Given the description of an element on the screen output the (x, y) to click on. 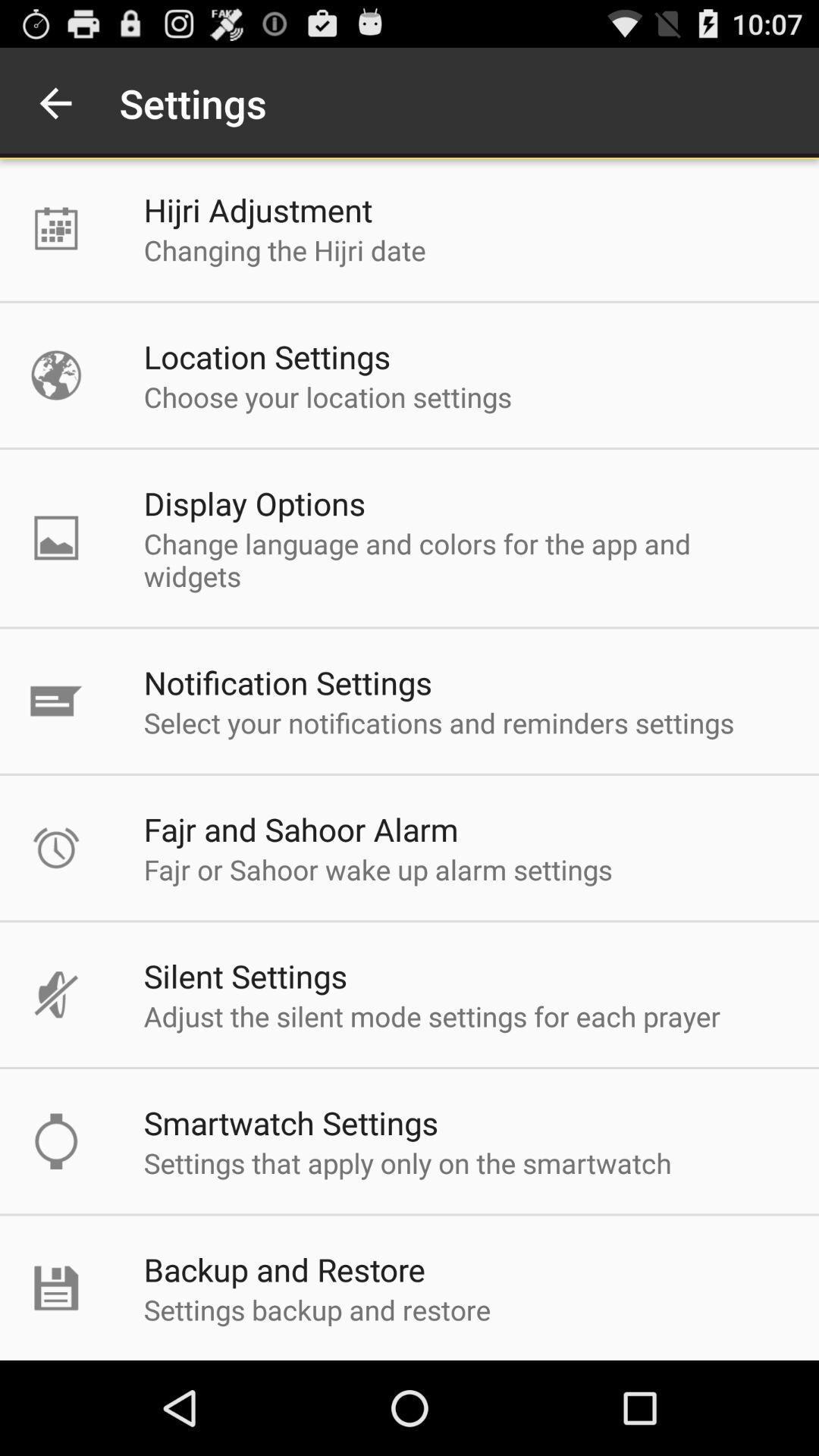
click icon below the choose your location icon (254, 502)
